Given the description of an element on the screen output the (x, y) to click on. 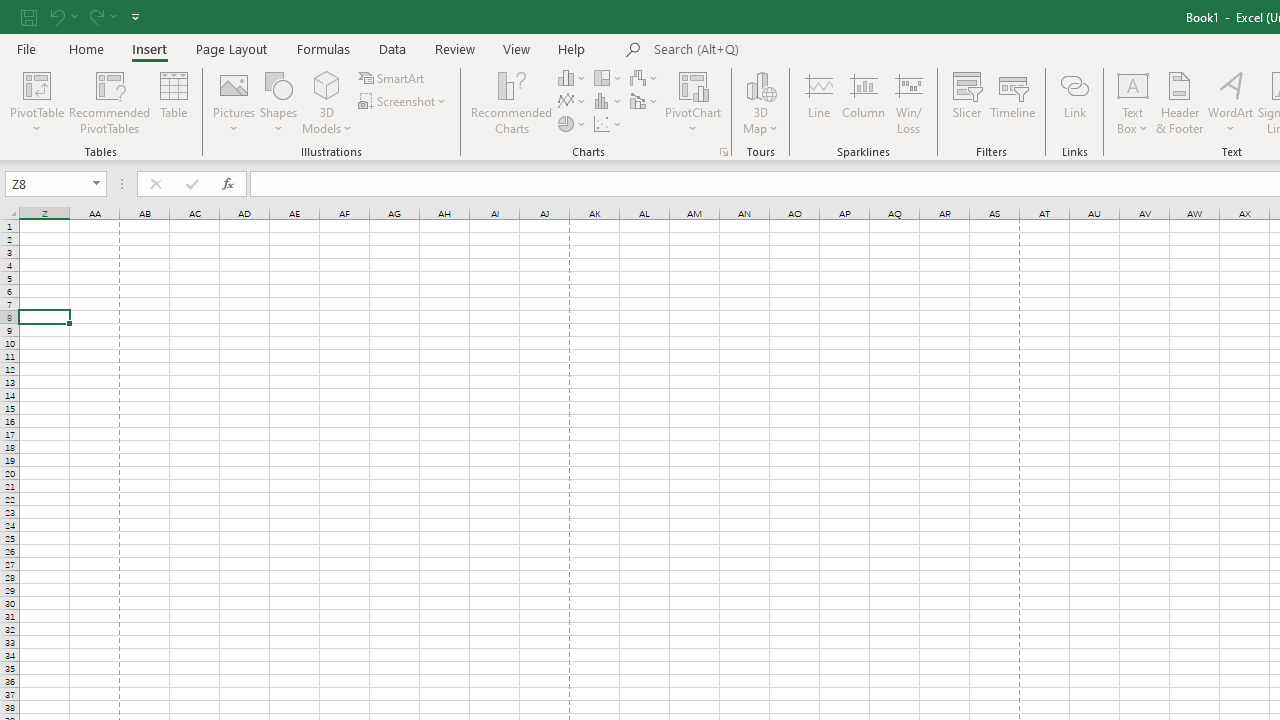
WordArt (1230, 102)
Table (173, 102)
Win/Loss (909, 102)
Screenshot (403, 101)
Recommended Charts (723, 151)
Line (818, 102)
Slicer... (966, 102)
